Given the description of an element on the screen output the (x, y) to click on. 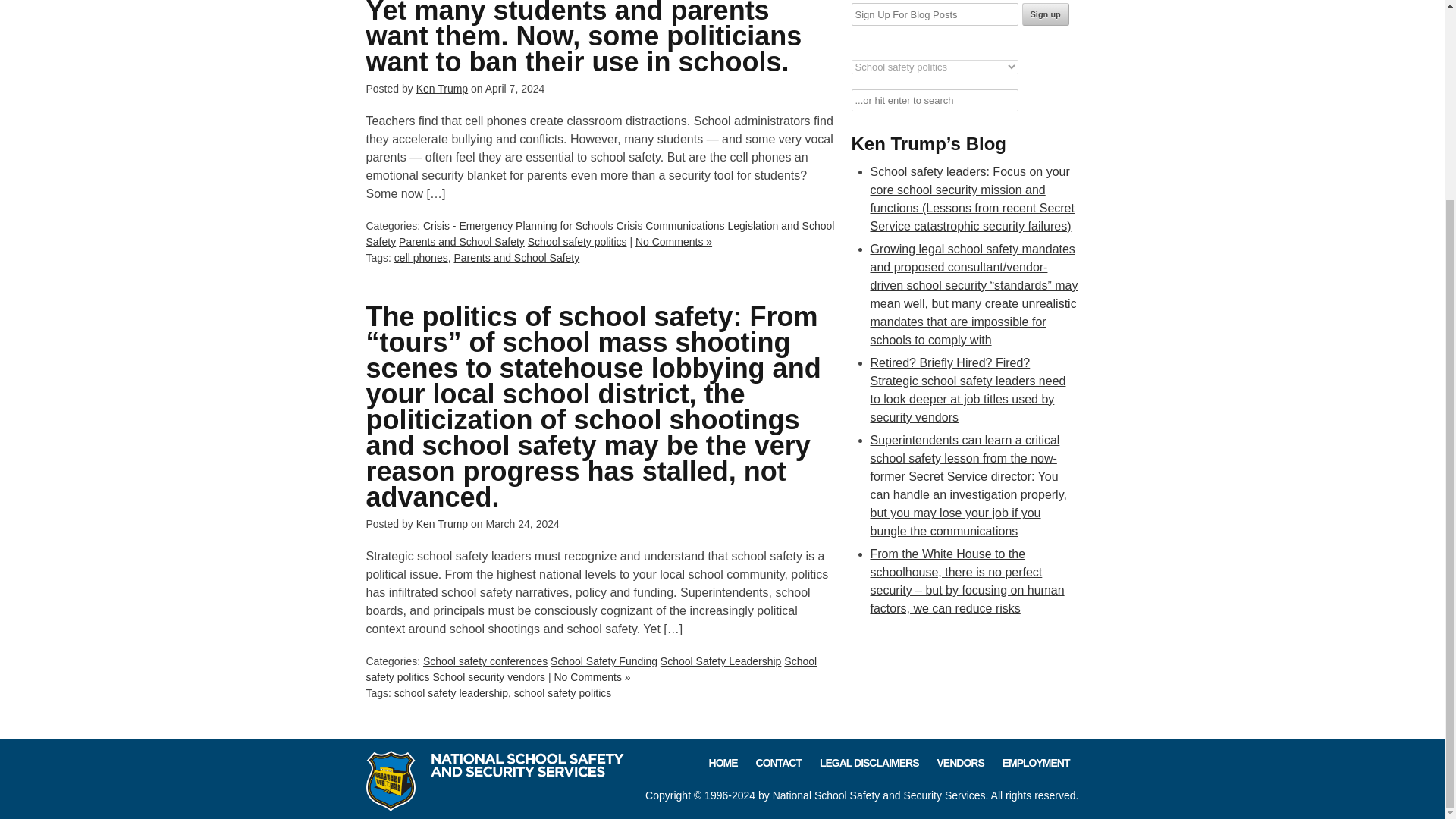
Posts by Ken Trump (441, 523)
...or hit enter to search (933, 100)
Posts by Ken Trump (441, 88)
Sign up (1045, 14)
